Given the description of an element on the screen output the (x, y) to click on. 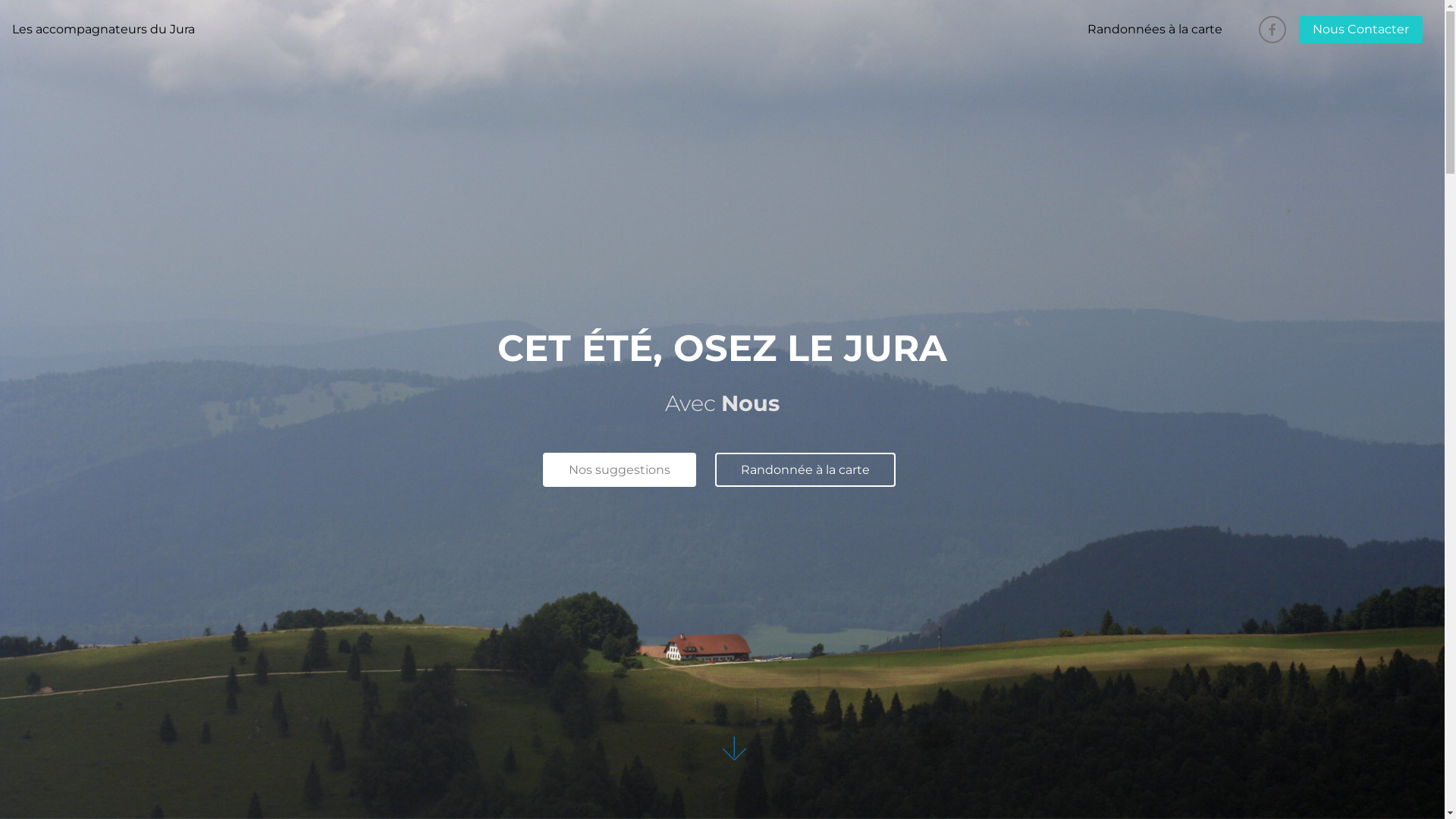
Nos suggestions Element type: text (619, 469)
Nous Contacter Element type: text (1360, 28)
Les accompagnateurs du Jura Element type: text (103, 28)
